Given the description of an element on the screen output the (x, y) to click on. 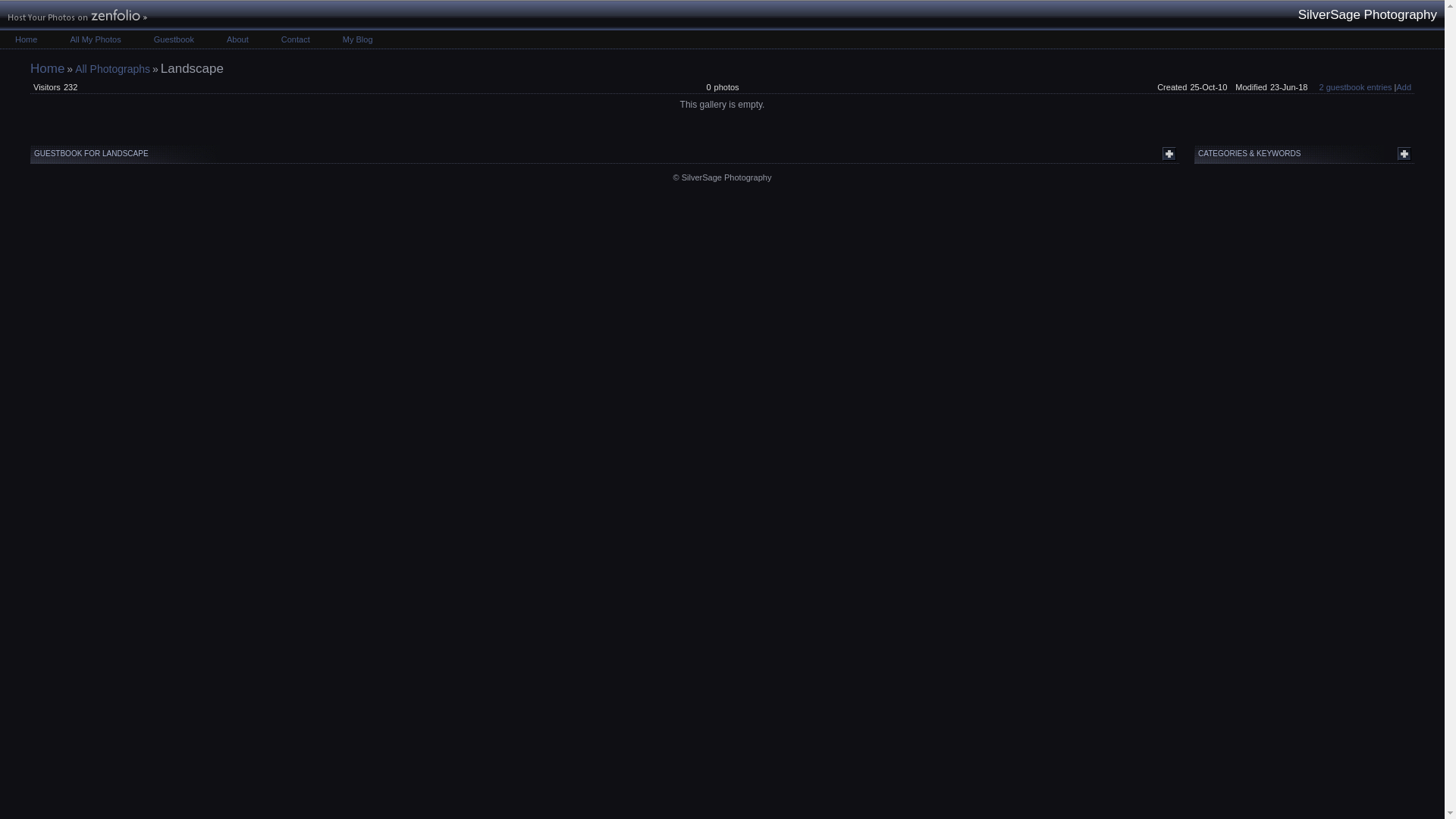
All Photographs (112, 69)
Guestbook (173, 38)
Home (47, 68)
Host Your Photos on Zenfolio (75, 16)
Home (26, 38)
Contact (295, 38)
Add (1403, 86)
SilverSage Photography (47, 68)
2 guestbook entries (1355, 86)
All My Photos (95, 38)
